Given the description of an element on the screen output the (x, y) to click on. 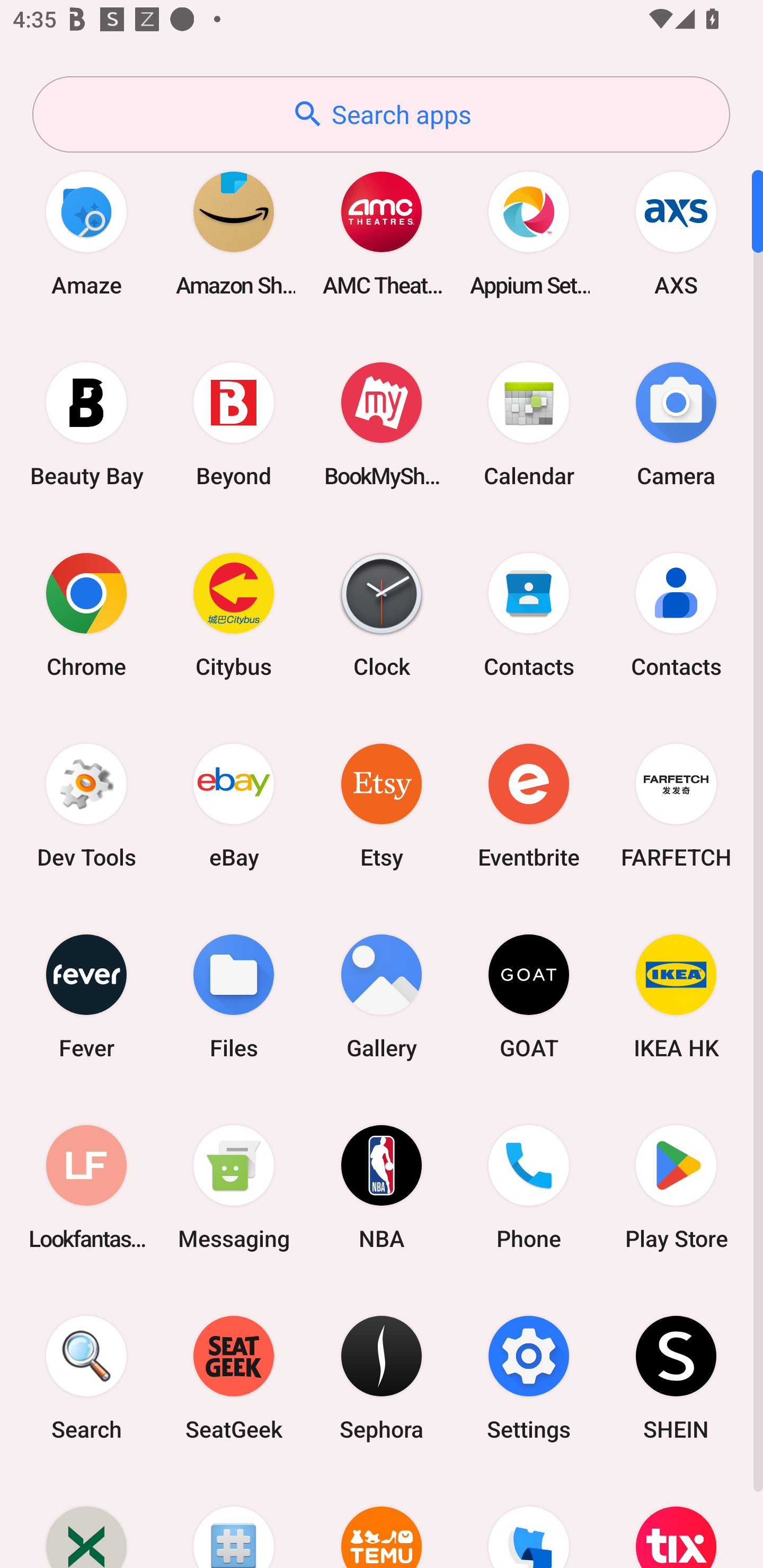
  Search apps (381, 114)
Amaze (86, 233)
Amazon Shopping (233, 233)
AMC Theatres (381, 233)
Appium Settings (528, 233)
AXS (676, 233)
Beauty Bay (86, 424)
Beyond (233, 424)
BookMyShow (381, 424)
Calendar (528, 424)
Camera (676, 424)
Chrome (86, 614)
Citybus (233, 614)
Clock (381, 614)
Contacts (528, 614)
Contacts (676, 614)
Dev Tools (86, 805)
eBay (233, 805)
Etsy (381, 805)
Eventbrite (528, 805)
FARFETCH (676, 805)
Fever (86, 996)
Files (233, 996)
Gallery (381, 996)
GOAT (528, 996)
IKEA HK (676, 996)
Lookfantastic (86, 1186)
Messaging (233, 1186)
NBA (381, 1186)
Phone (528, 1186)
Play Store (676, 1186)
Search (86, 1377)
SeatGeek (233, 1377)
Sephora (381, 1377)
Settings (528, 1377)
SHEIN (676, 1377)
StockX (86, 1520)
Superuser (233, 1520)
Temu (381, 1520)
TickPick (528, 1520)
TodayTix (676, 1520)
